Given the description of an element on the screen output the (x, y) to click on. 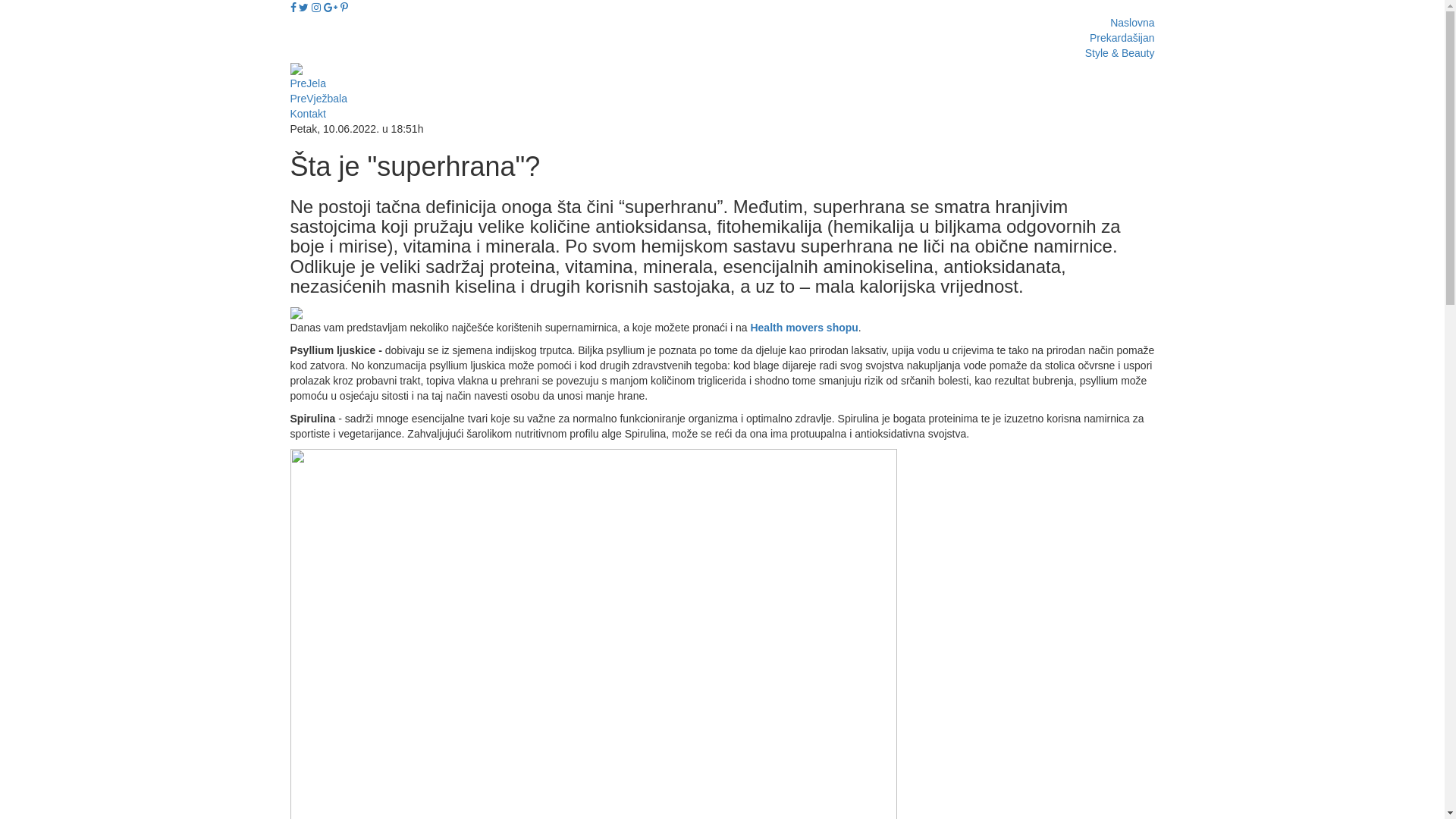
Health movers shopu Element type: text (803, 327)
Style & Beauty Element type: text (1119, 53)
Naslovna Element type: text (1132, 22)
PreJela Element type: text (307, 83)
Kontakt Element type: text (307, 113)
